Given the description of an element on the screen output the (x, y) to click on. 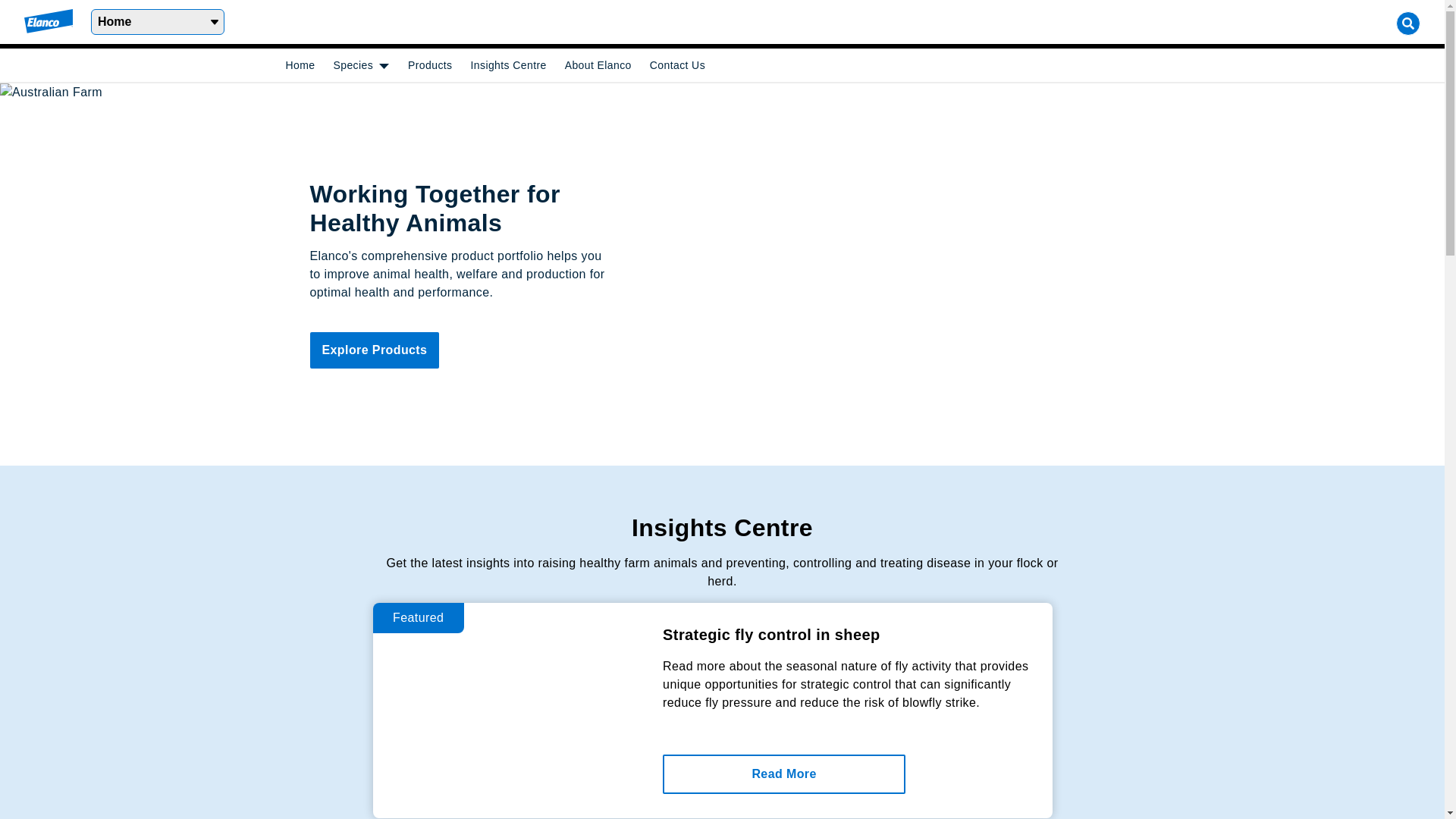
Featured Element type: text (418, 617)
Read More Element type: text (783, 773)
Home Element type: text (157, 21)
About Elanco Element type: text (597, 64)
Home Element type: text (299, 64)
Contact Us Element type: text (677, 64)
Search Element type: hover (1408, 23)
Products Element type: text (429, 64)
Species Element type: text (352, 64)
Explore Products Element type: text (374, 350)
Insights Centre Element type: text (508, 64)
